Given the description of an element on the screen output the (x, y) to click on. 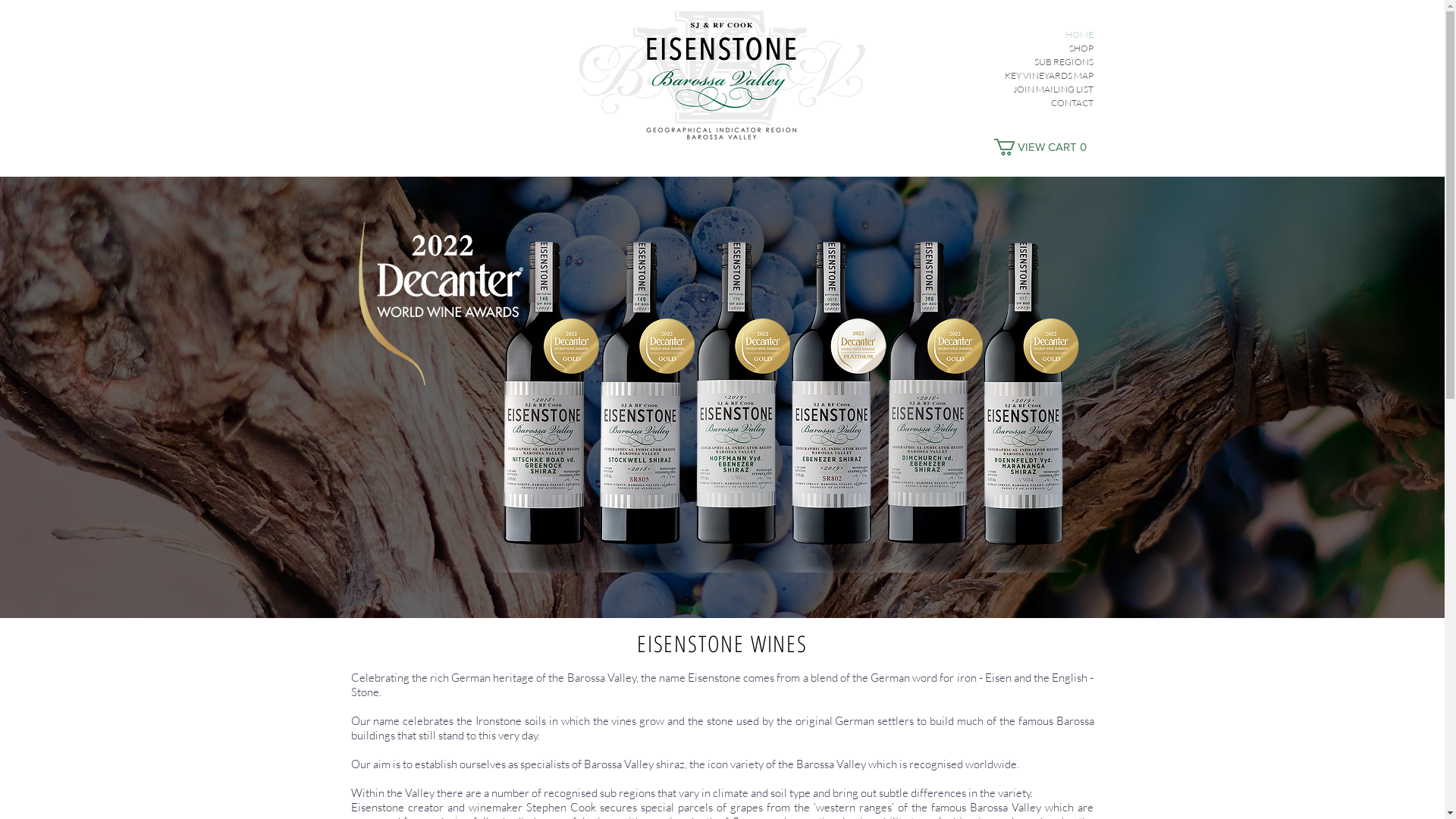
VIEW CART
0 Element type: text (1042, 146)
HOME Element type: text (1036, 34)
CONTACT Element type: text (1036, 102)
JOIN MAILING LIST Element type: text (1036, 89)
SUB REGIONS Element type: text (1036, 62)
KEY VINEYARDS MAP Element type: text (1036, 75)
SHOP Element type: text (1036, 48)
